Given the description of an element on the screen output the (x, y) to click on. 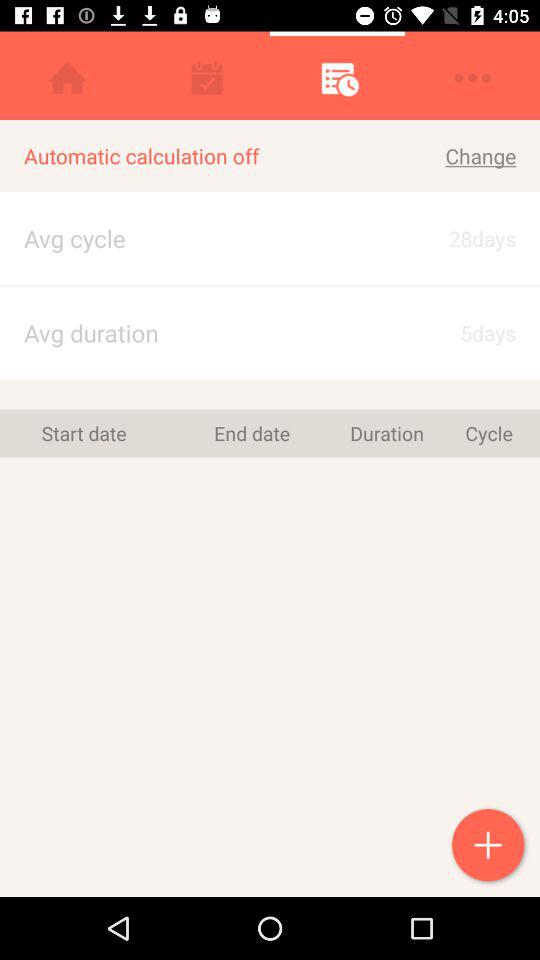
select avg duration (189, 332)
